Given the description of an element on the screen output the (x, y) to click on. 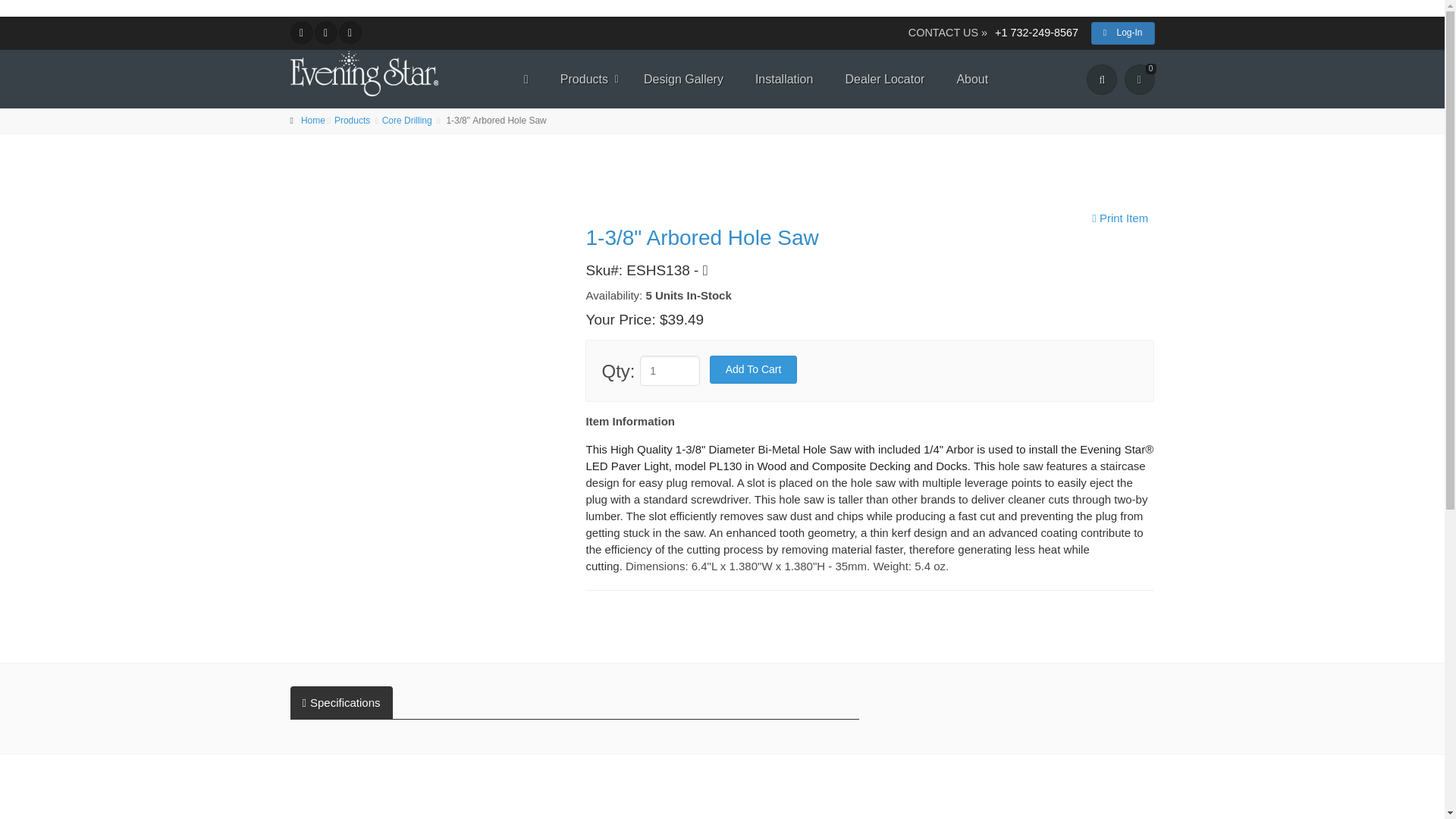
Add To Cart (753, 369)
1 (670, 370)
Log-In (1122, 33)
